Given the description of an element on the screen output the (x, y) to click on. 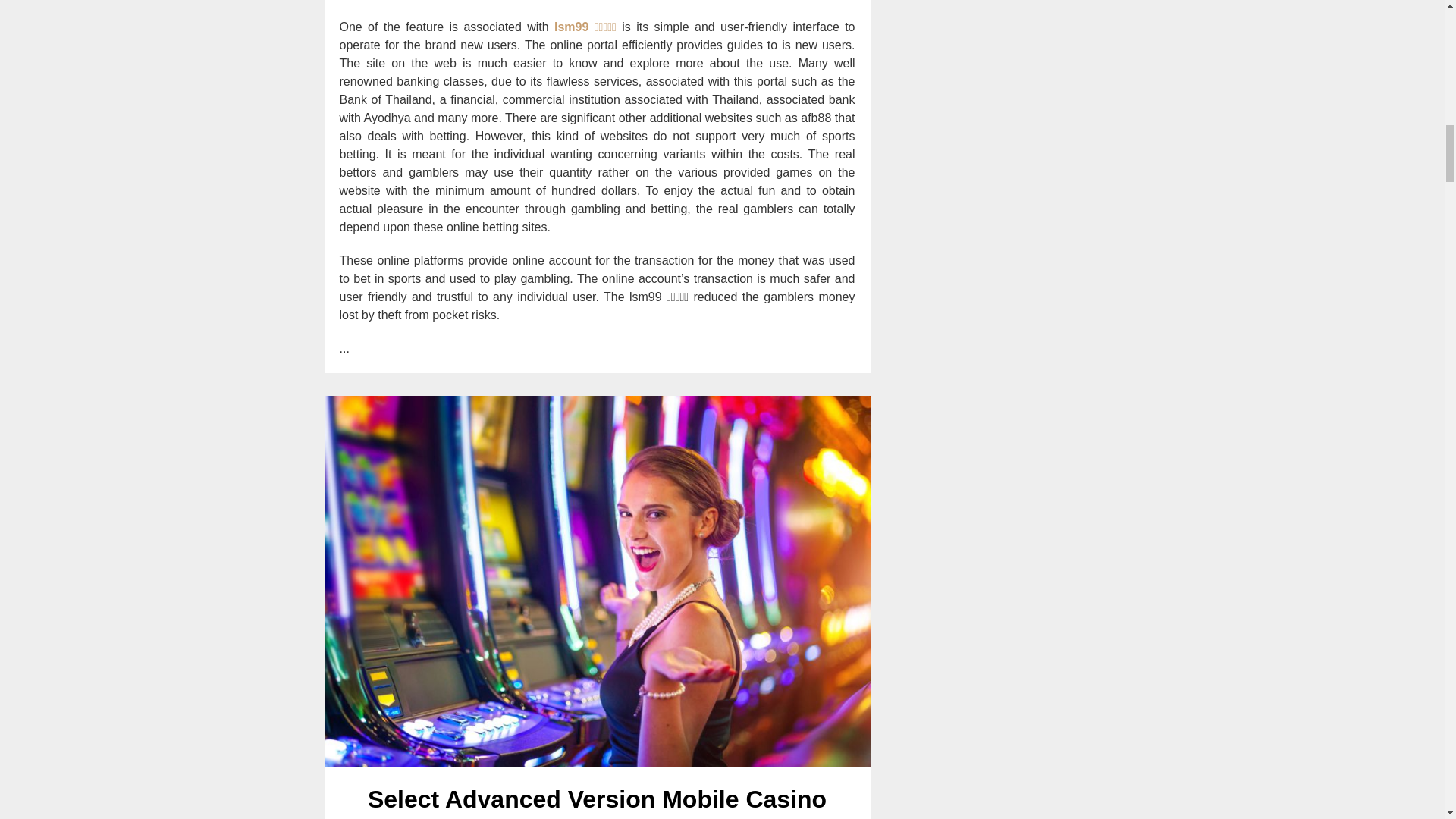
Select Advanced Version Mobile Casino Games In Online (597, 802)
Select Advanced Version Mobile Casino Games In Online (597, 802)
